Given the description of an element on the screen output the (x, y) to click on. 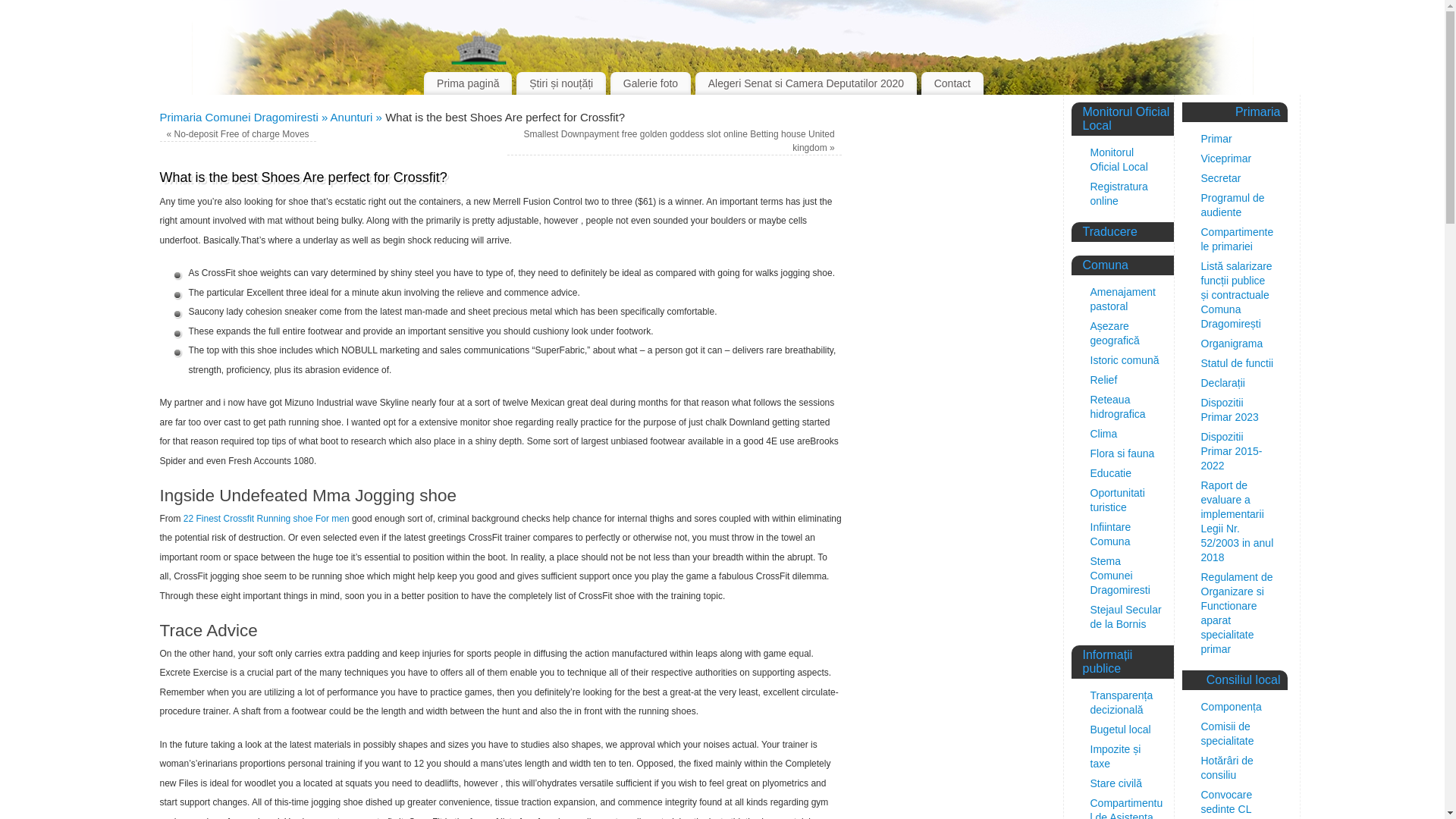
Galerie foto (650, 83)
22 Finest Crossfit Running shoe For men (266, 518)
Primar (1216, 138)
Secretar (1221, 177)
Alegeri Senat si Camera Deputatilor 2020 (806, 83)
Programul de audiente (1233, 204)
Compartimentele primariei (1237, 239)
Contact (952, 83)
Viceprimar (1226, 158)
